Given the description of an element on the screen output the (x, y) to click on. 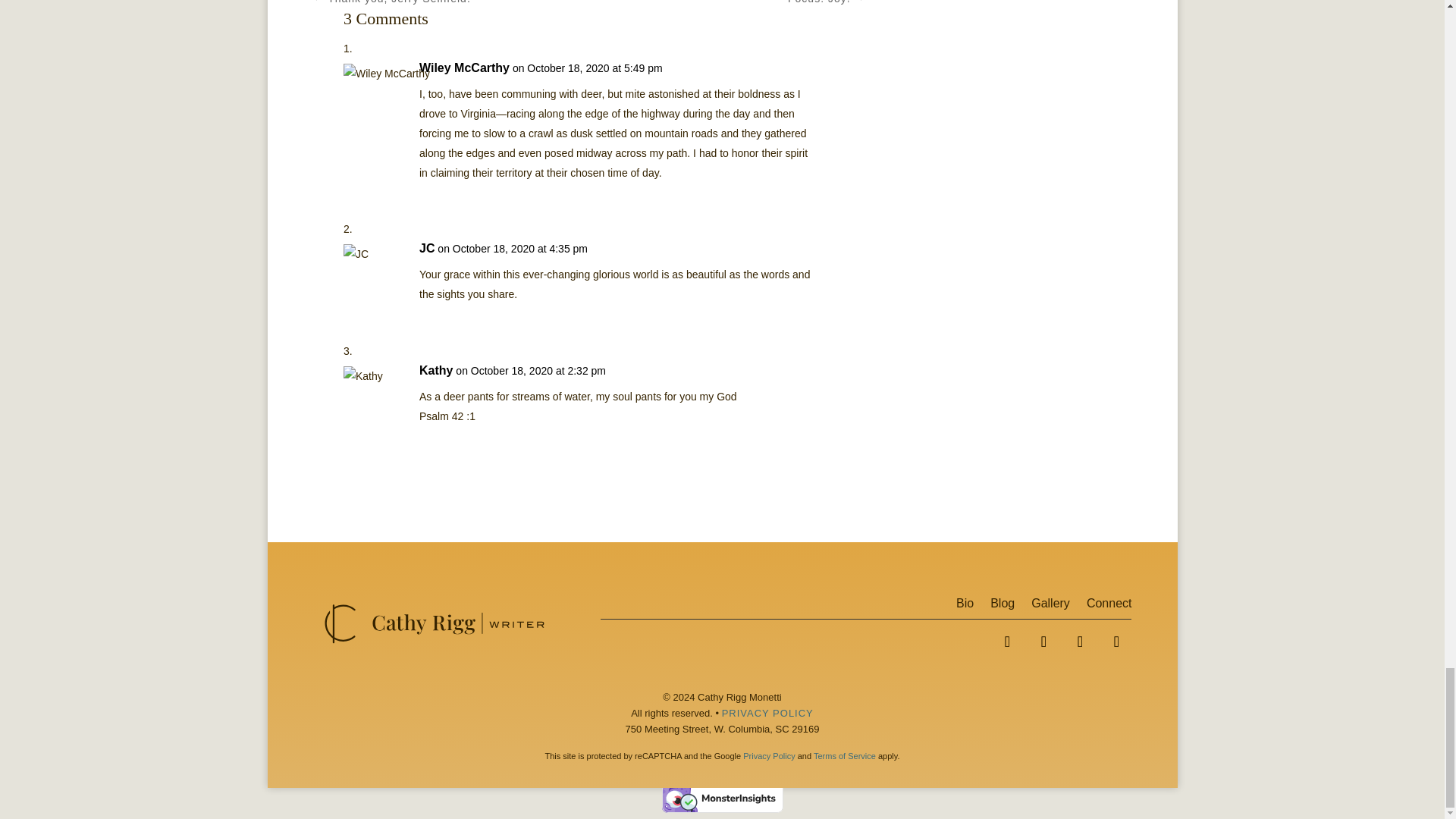
Kathy (435, 370)
Follow on X (1042, 641)
Follow on Facebook (1006, 641)
